Given the description of an element on the screen output the (x, y) to click on. 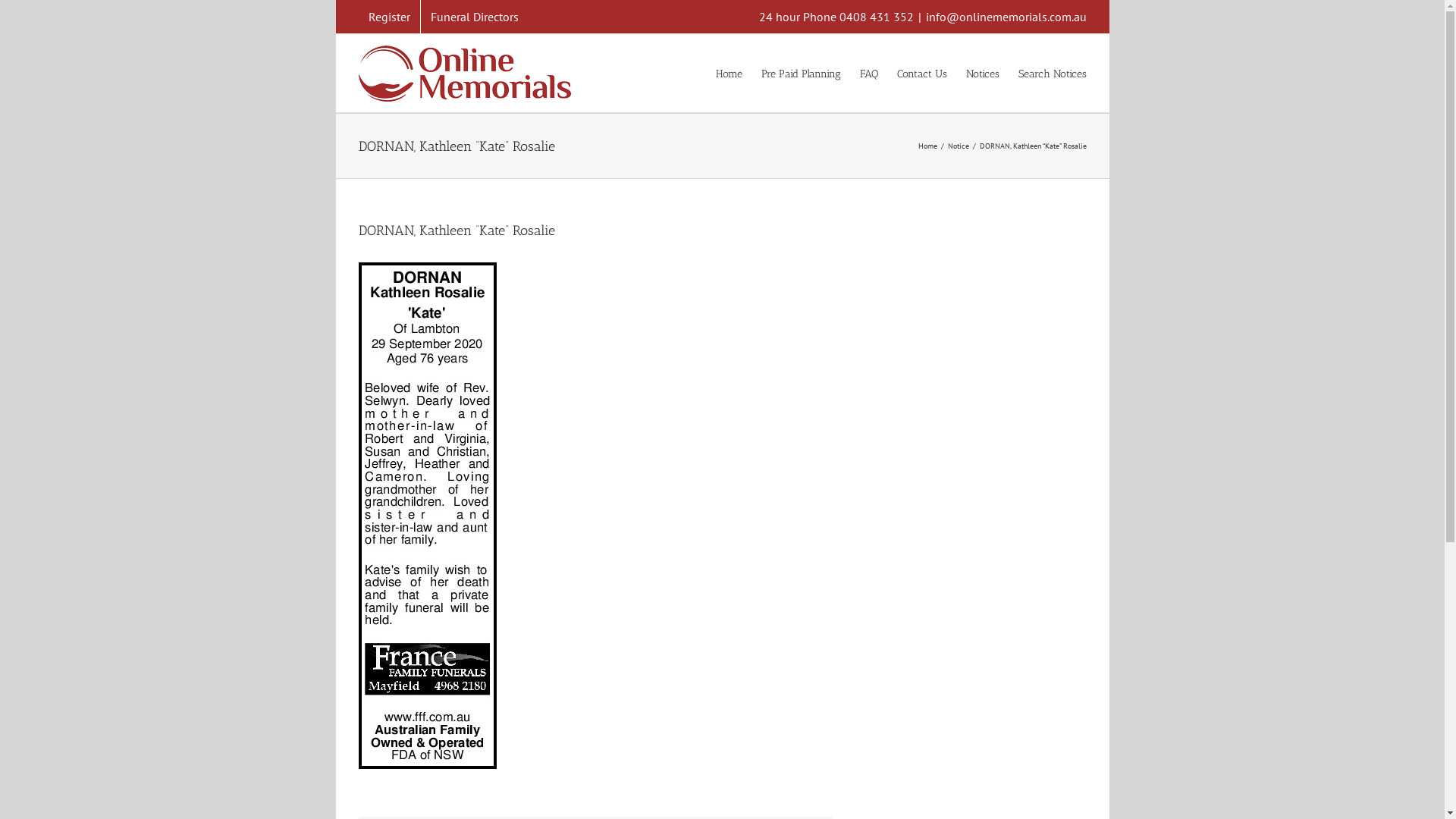
Home Element type: text (926, 145)
Home Element type: text (728, 73)
info@onlinememorials.com.au Element type: text (1005, 16)
Contact Us Element type: text (921, 73)
Register Element type: text (388, 16)
Notice Element type: text (958, 145)
Pre Paid Planning Element type: text (800, 73)
FAQ Element type: text (868, 73)
Funeral Directors Element type: text (473, 16)
Search Notices Element type: text (1051, 73)
Notices Element type: text (982, 73)
